Given the description of an element on the screen output the (x, y) to click on. 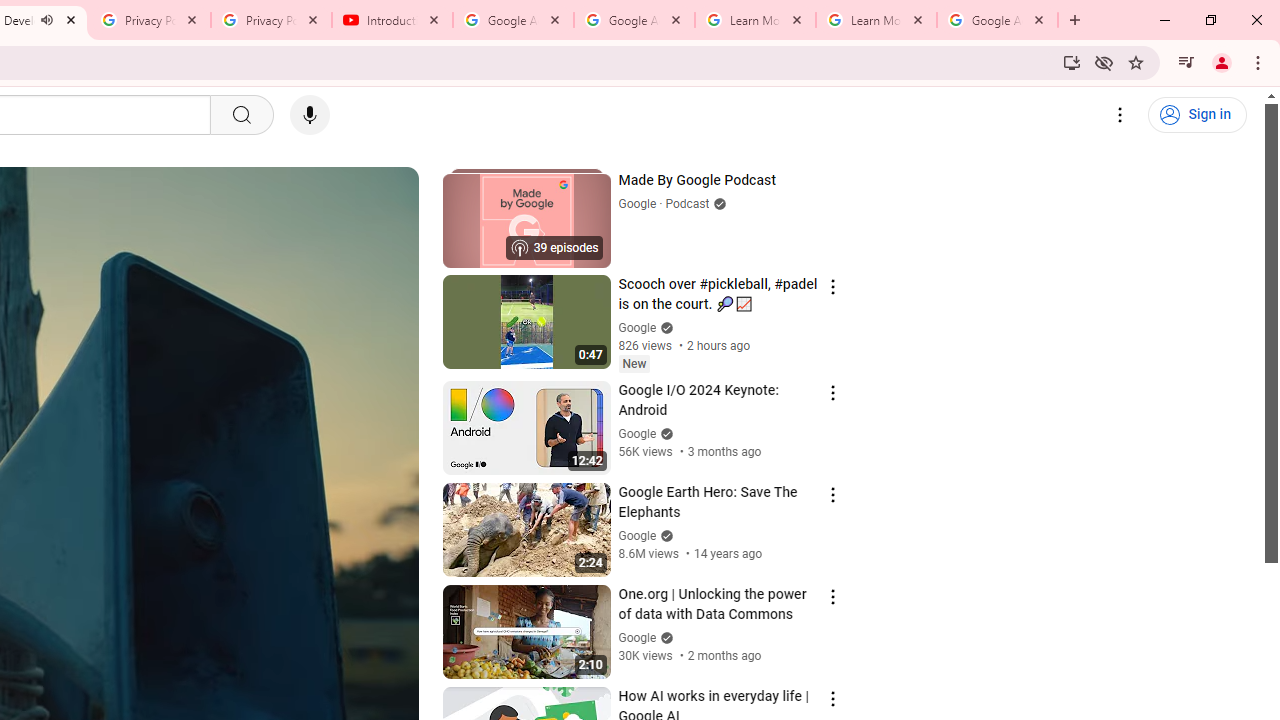
New (634, 363)
Introduction | Google Privacy Policy - YouTube (392, 20)
Search with your voice (309, 115)
